Given the description of an element on the screen output the (x, y) to click on. 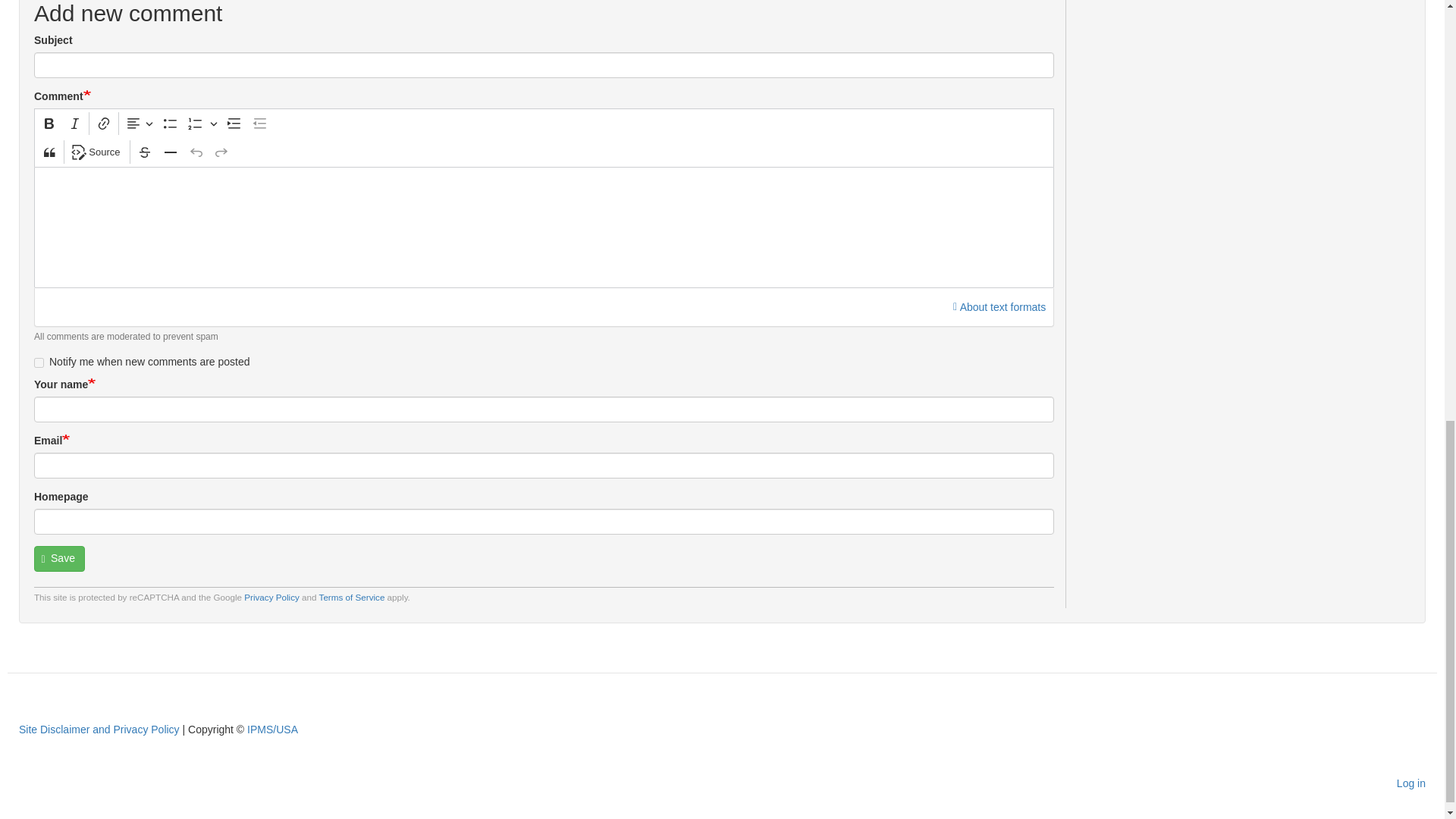
1 (38, 362)
